Given the description of an element on the screen output the (x, y) to click on. 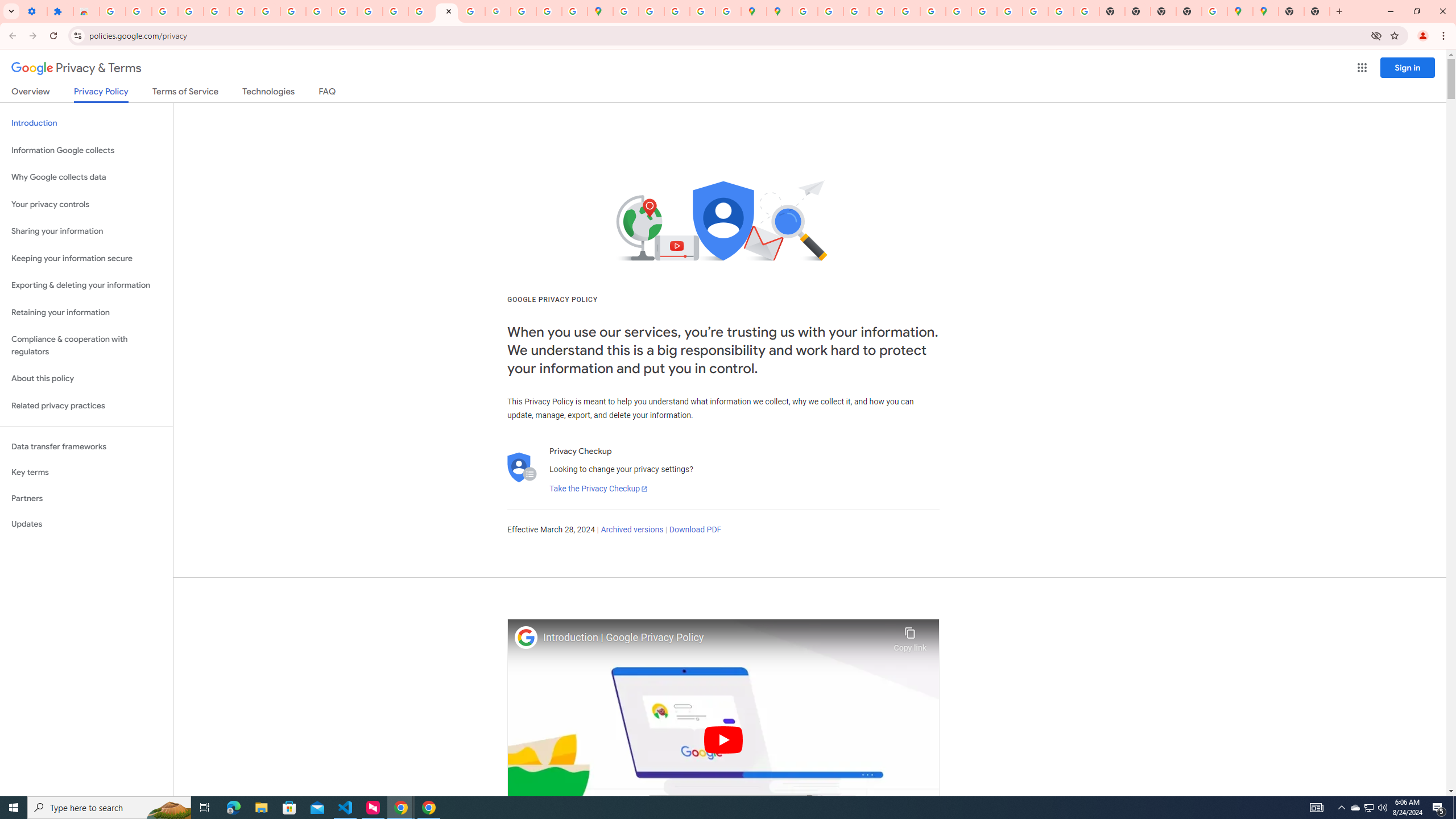
New Tab (1291, 11)
New Tab (1188, 11)
Why Google collects data (86, 176)
Google Maps (1239, 11)
About this policy (86, 379)
Settings - On startup (34, 11)
